Given the description of an element on the screen output the (x, y) to click on. 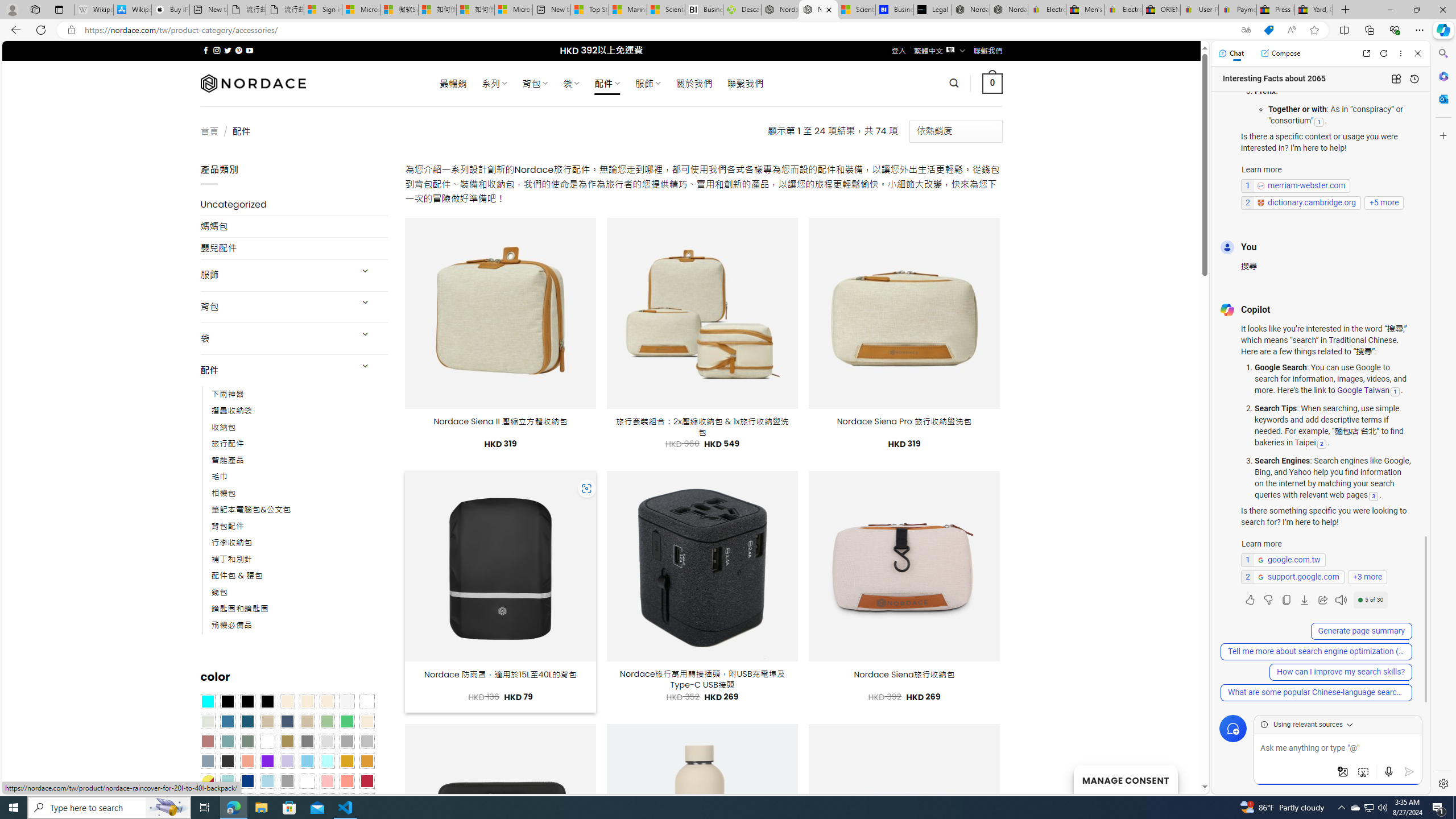
Marine life - MSN (628, 9)
